Given the description of an element on the screen output the (x, y) to click on. 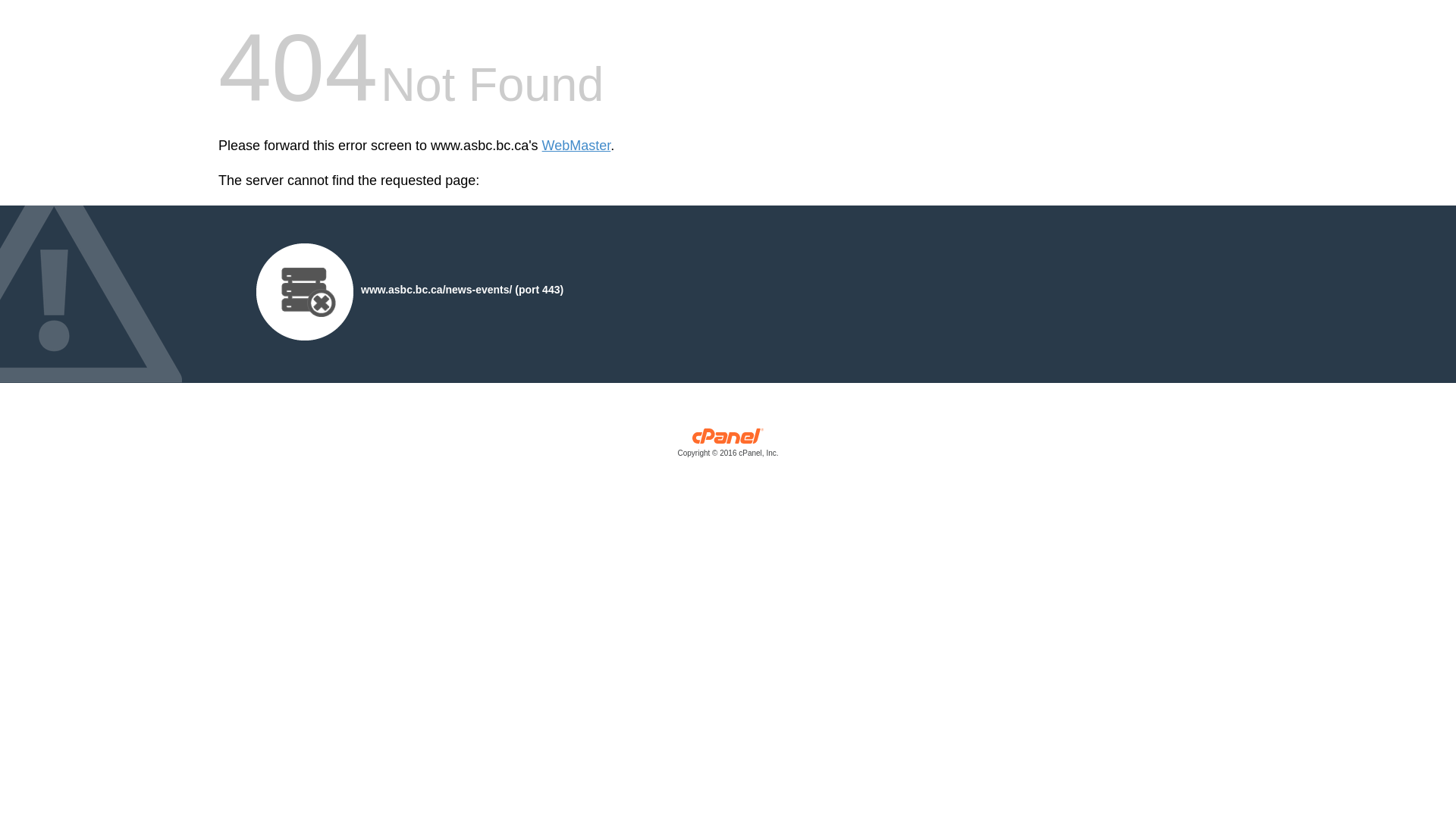
cPanel, Inc. (727, 446)
WebMaster (576, 145)
